Given the description of an element on the screen output the (x, y) to click on. 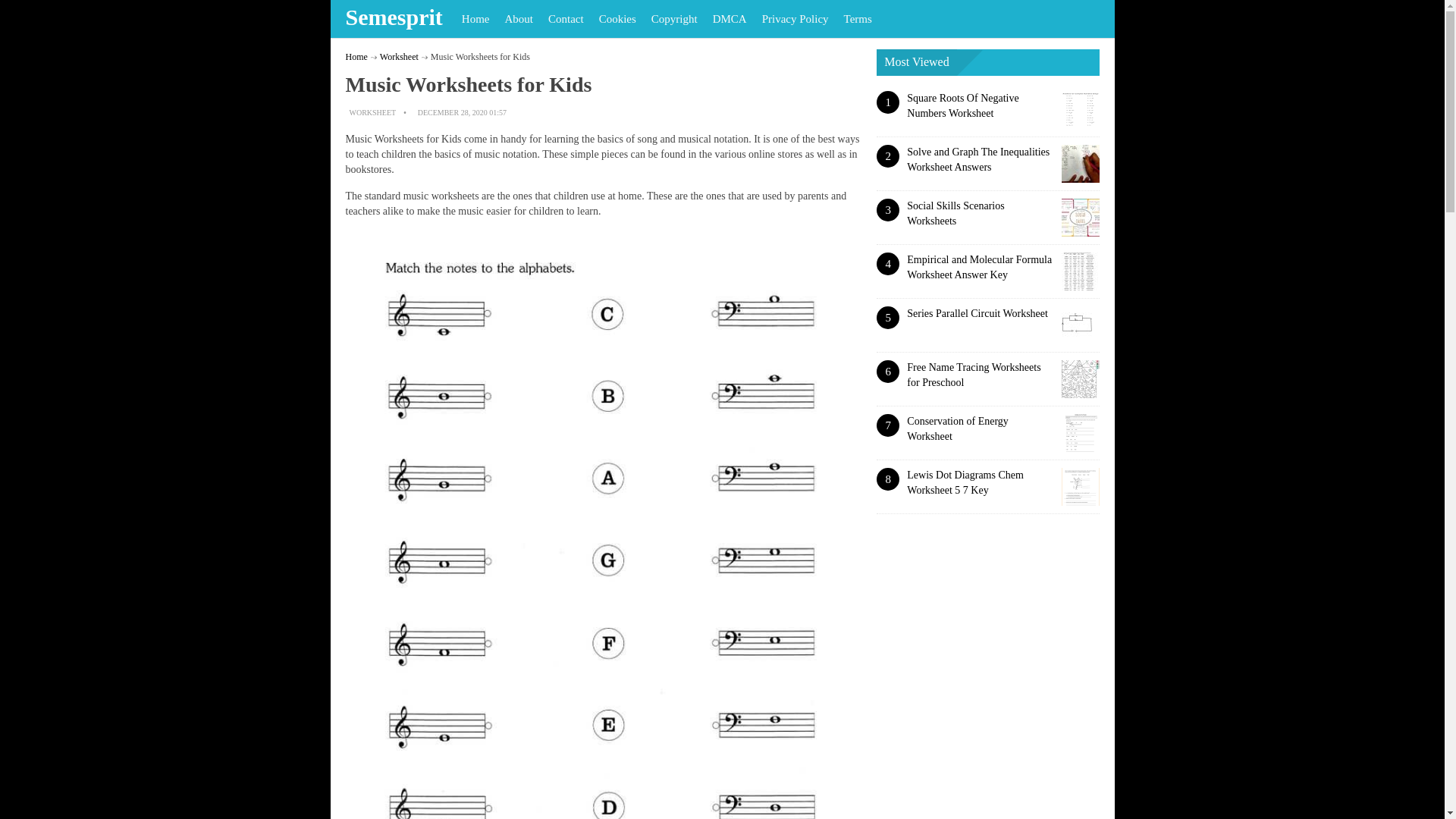
Square Roots Of Negative Numbers Worksheet (962, 105)
Terms (857, 18)
WORKSHEET (372, 112)
Empirical and Molecular Formula Worksheet Answer Key (979, 266)
Copyright (673, 18)
Privacy Policy (794, 18)
DMCA (729, 18)
Home (357, 56)
Social Skills Scenarios Worksheets (955, 212)
